Given the description of an element on the screen output the (x, y) to click on. 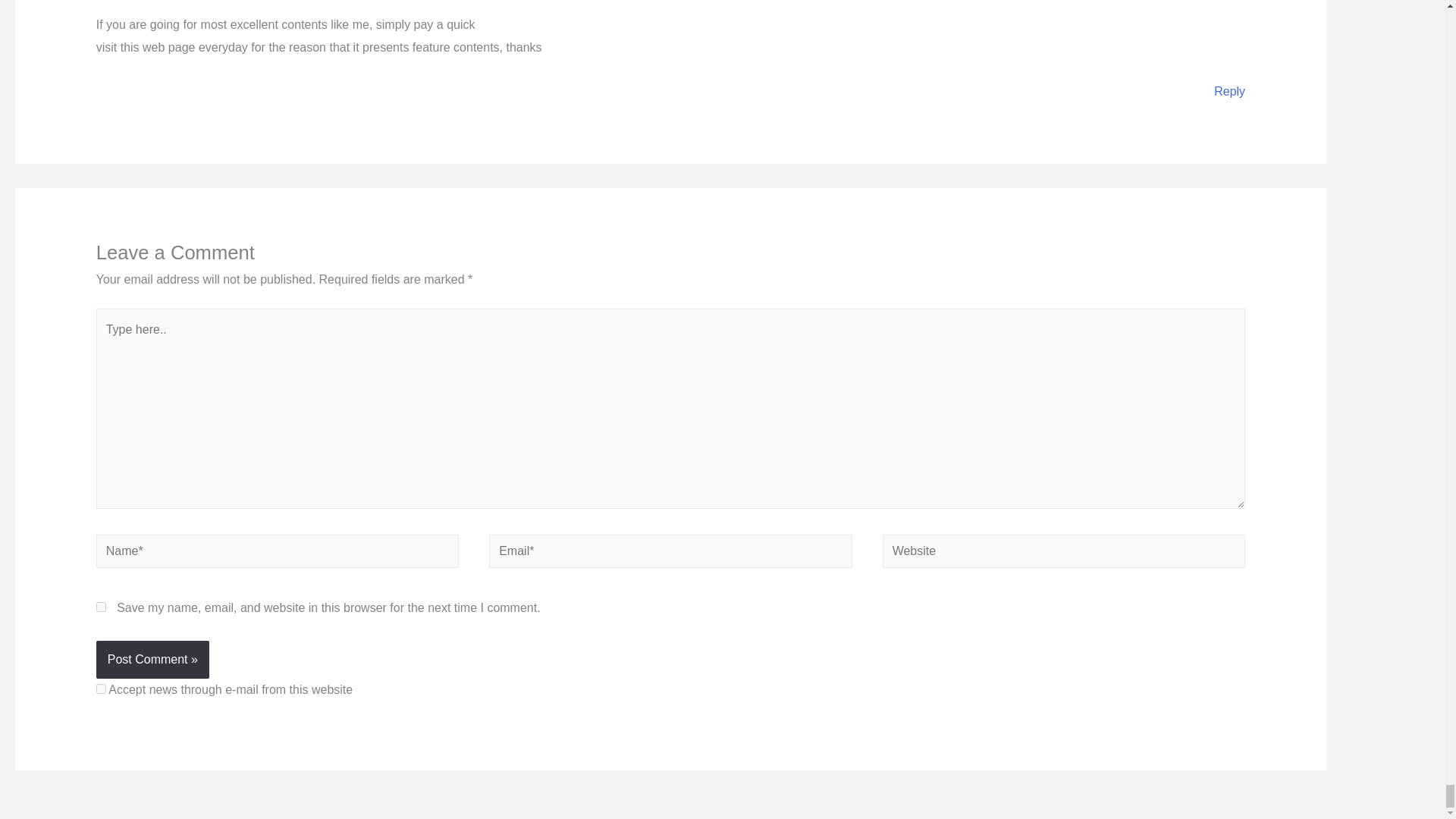
1 (101, 688)
yes (101, 606)
